Given the description of an element on the screen output the (x, y) to click on. 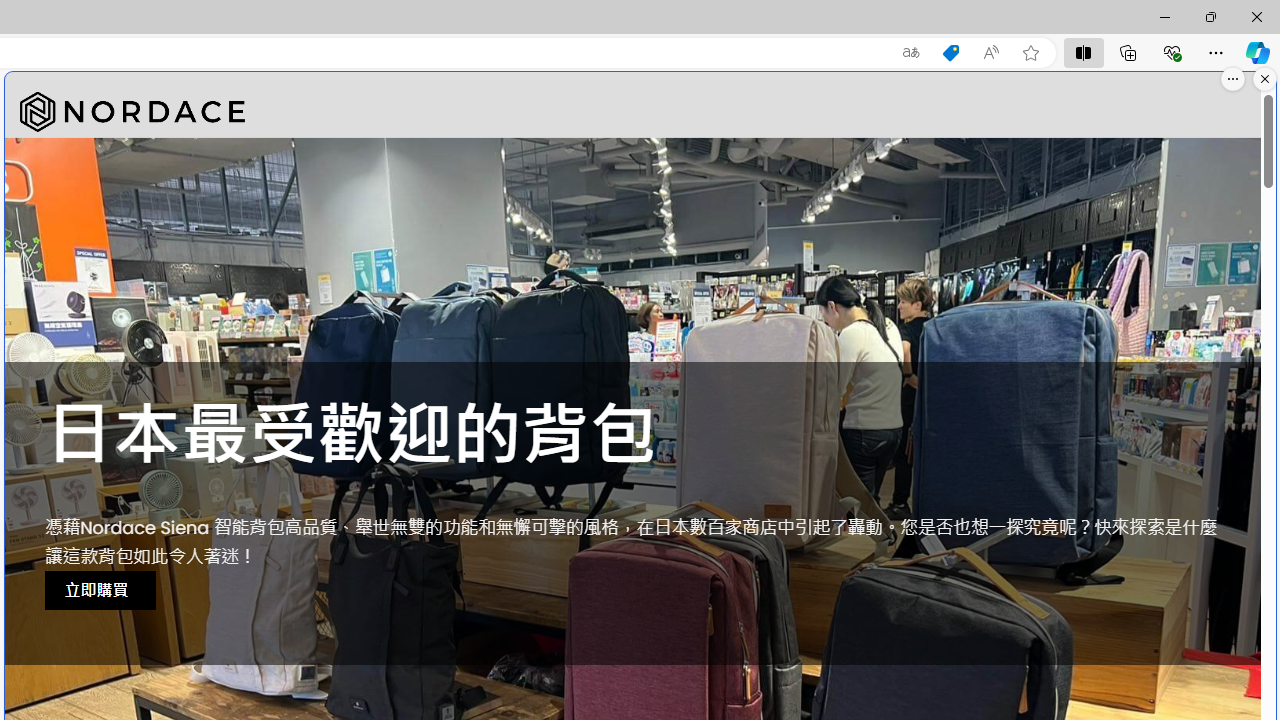
Read aloud this page (Ctrl+Shift+U) (991, 53)
Close (1256, 16)
More options. (1233, 79)
Restore (1210, 16)
Split screen (1083, 52)
Minimize (1164, 16)
Settings and more (Alt+F) (1215, 52)
Browser essentials (1171, 52)
This site has coupons! Shopping in Microsoft Edge (950, 53)
Nordace (132, 111)
Copilot (Ctrl+Shift+.) (1258, 52)
Add this page to favorites (Ctrl+D) (1030, 53)
Show translate options (910, 53)
